Given the description of an element on the screen output the (x, y) to click on. 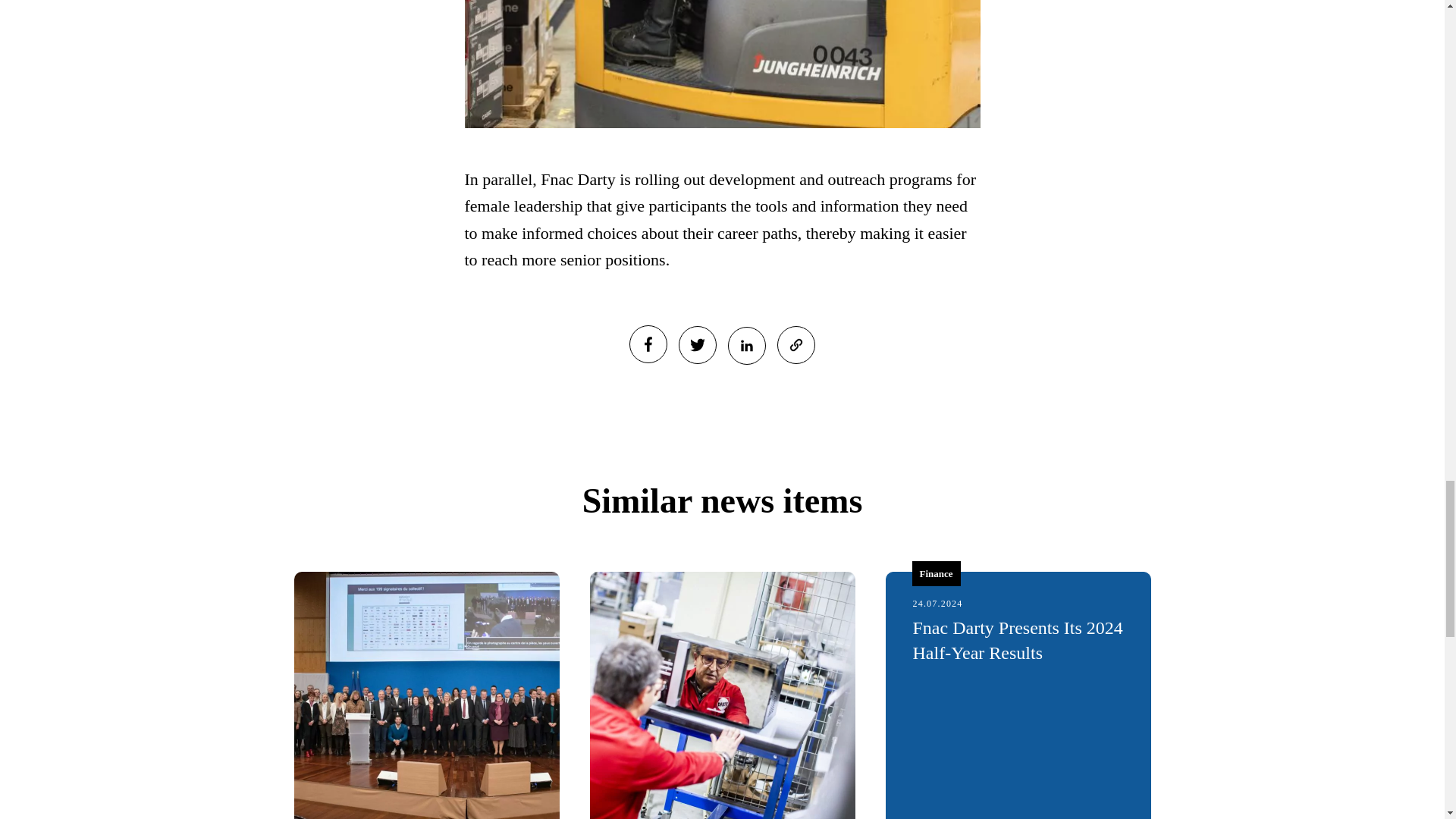
Fnac Darty Presents Its 2024 Half-Year Results (1017, 640)
Finance (935, 573)
